Given the description of an element on the screen output the (x, y) to click on. 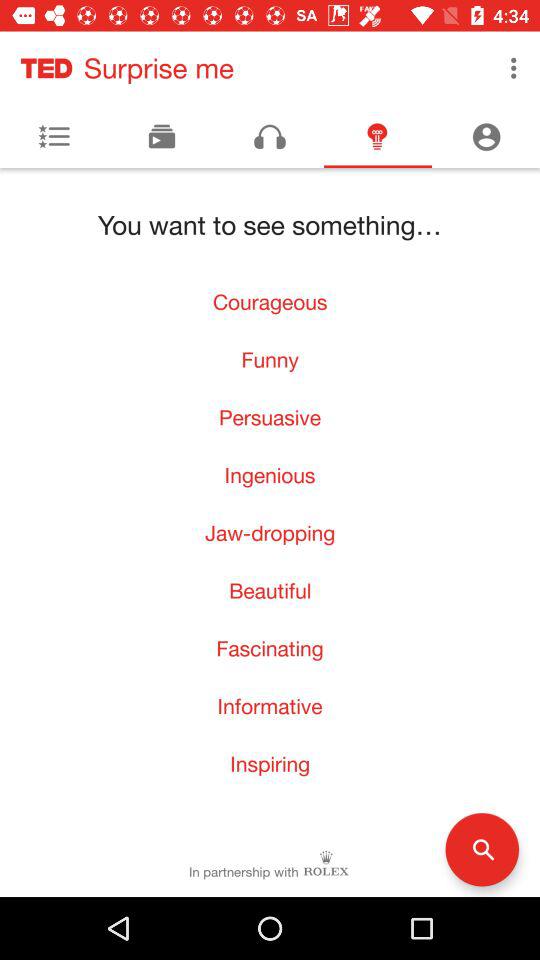
turn on the item to the right of the surprise me (513, 67)
